Given the description of an element on the screen output the (x, y) to click on. 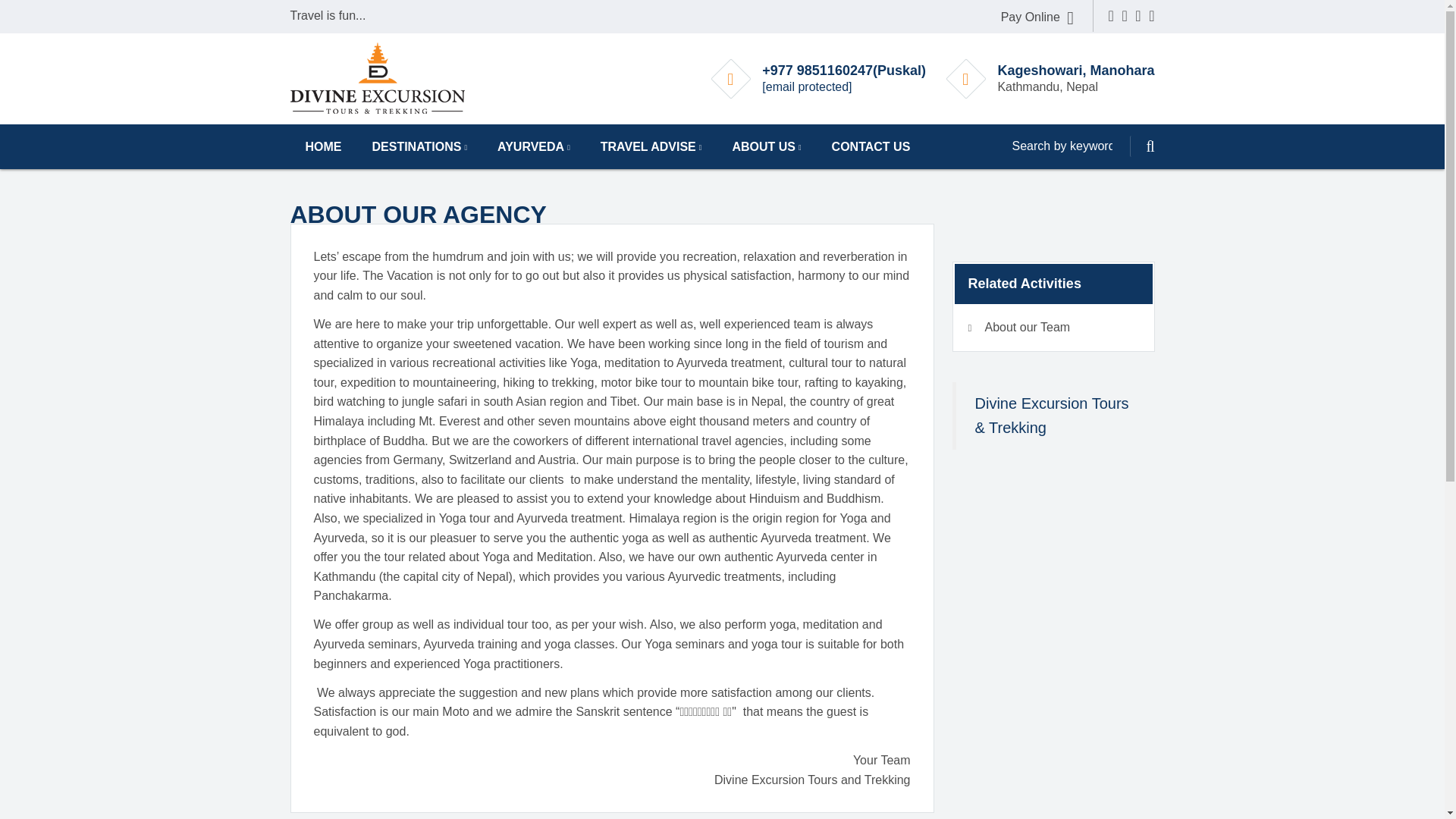
Destinations (418, 146)
DESTINATIONS (418, 146)
HOME (322, 146)
Pay Online (1037, 17)
AYURVEDA (533, 146)
